Given the description of an element on the screen output the (x, y) to click on. 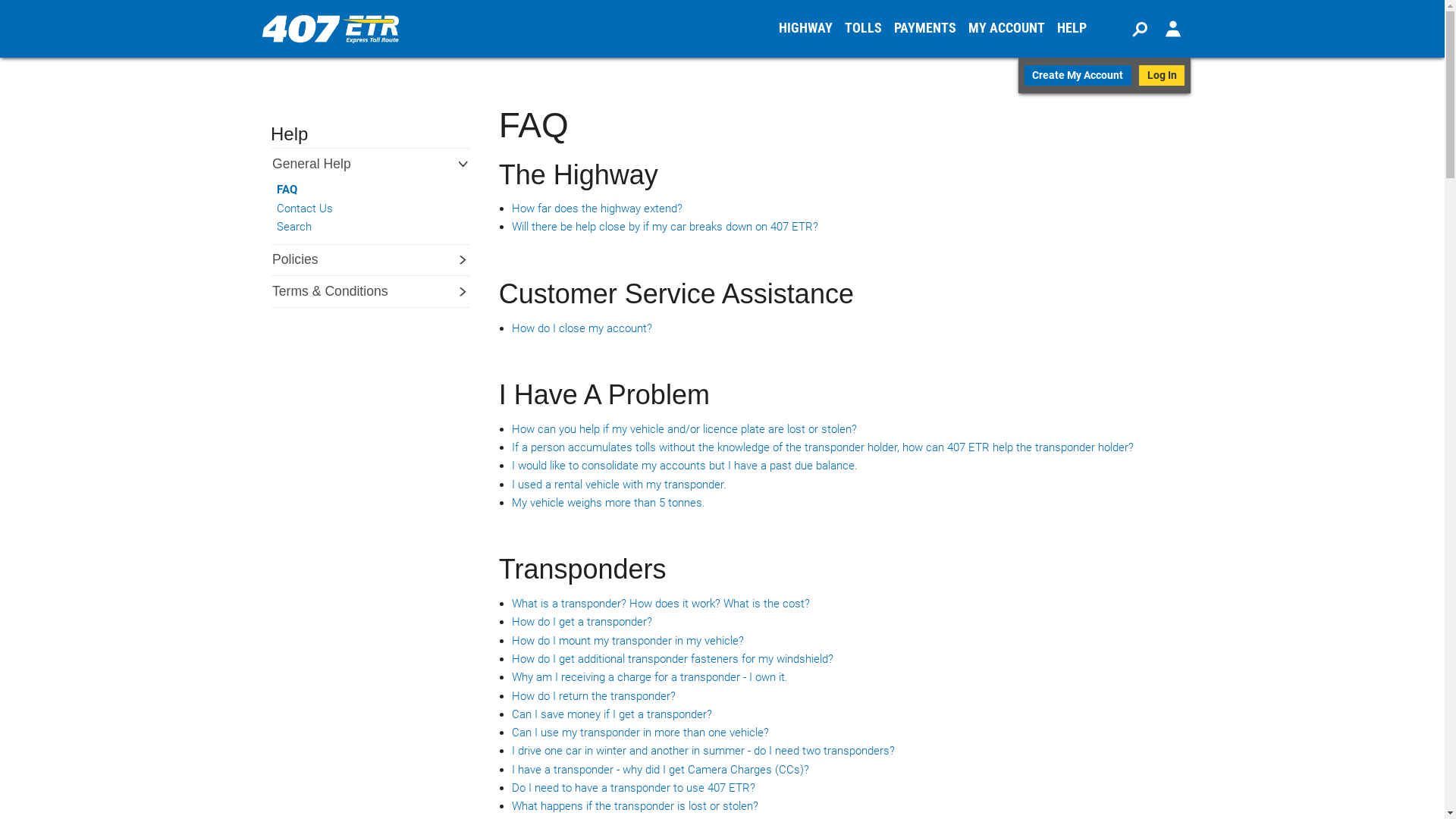
PAYMENTS Element type: text (925, 28)
Search Element type: text (361, 226)
Why am I receiving a charge for a transponder - I own it. Element type: text (649, 677)
Can I save money if I get a transponder? Element type: text (611, 714)
Can I use my transponder in more than one vehicle? Element type: text (639, 732)
Create My Account Element type: text (1077, 75)
MY ACCOUNT Element type: text (1006, 28)
Terms & Conditions Element type: text (338, 290)
How do I mount my transponder in my vehicle? Element type: text (627, 640)
Log In Element type: text (1161, 75)
What is a transponder? How does it work? What is the cost? Element type: text (660, 603)
My vehicle weighs more than 5 tonnes. Element type: text (608, 502)
FAQ Element type: text (361, 189)
General Help Element type: text (319, 163)
How do I return the transponder? Element type: text (593, 695)
How do I close my account? Element type: text (581, 328)
How do I get a transponder? Element type: text (581, 621)
TOLLS Element type: text (863, 28)
Policies Element type: text (303, 258)
HELP Element type: text (1071, 28)
Contact Us Element type: text (361, 208)
What happens if the transponder is lost or stolen? Element type: text (634, 805)
Do I need to have a transponder to use 407 ETR? Element type: text (633, 787)
HIGHWAY Element type: text (805, 28)
I used a rental vehicle with my transponder. Element type: text (618, 484)
I have a transponder - why did I get Camera Charges (CCs)? Element type: text (660, 769)
How far does the highway extend? Element type: text (596, 208)
